Given the description of an element on the screen output the (x, y) to click on. 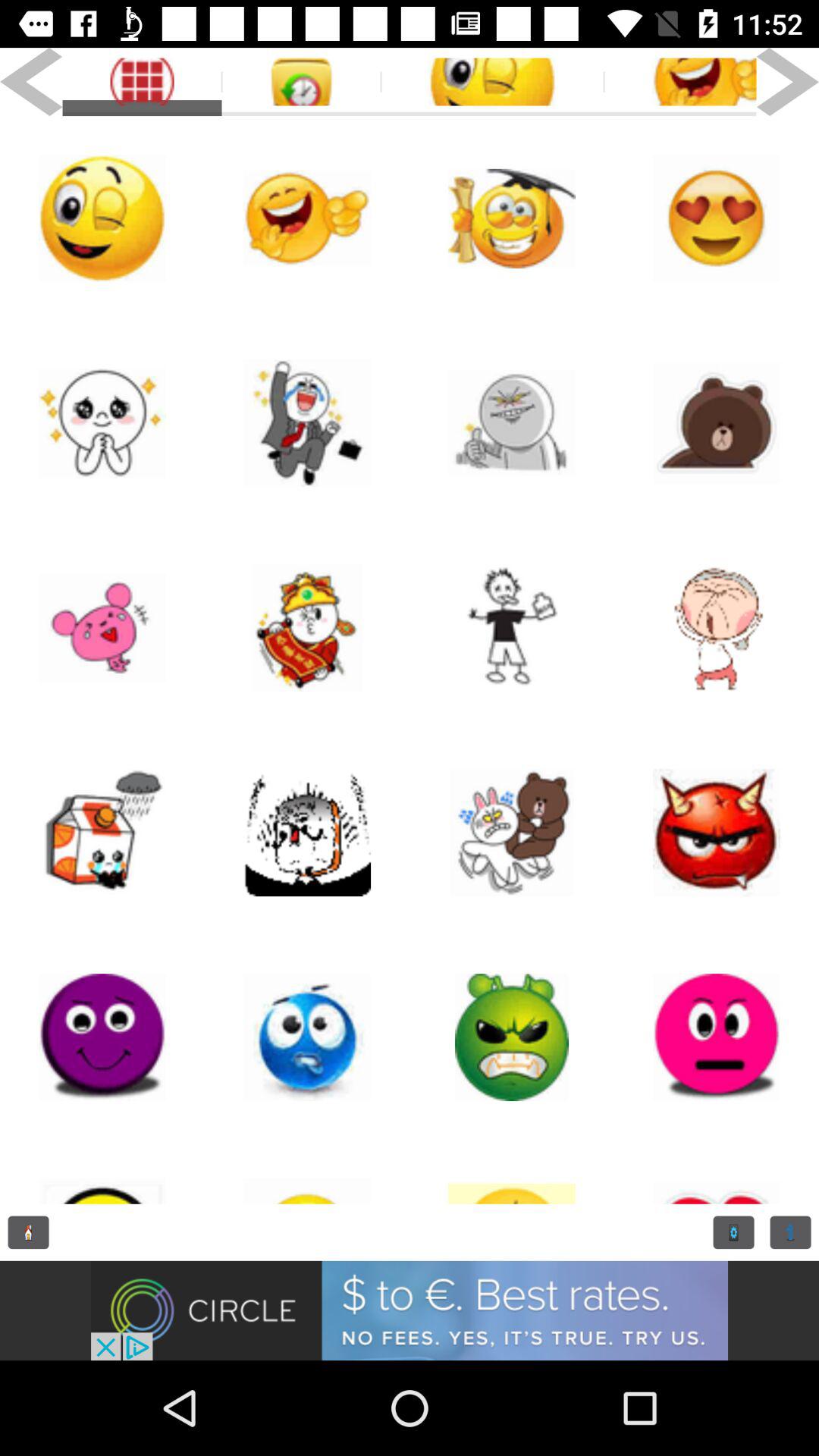
select this icon (511, 422)
